Given the description of an element on the screen output the (x, y) to click on. 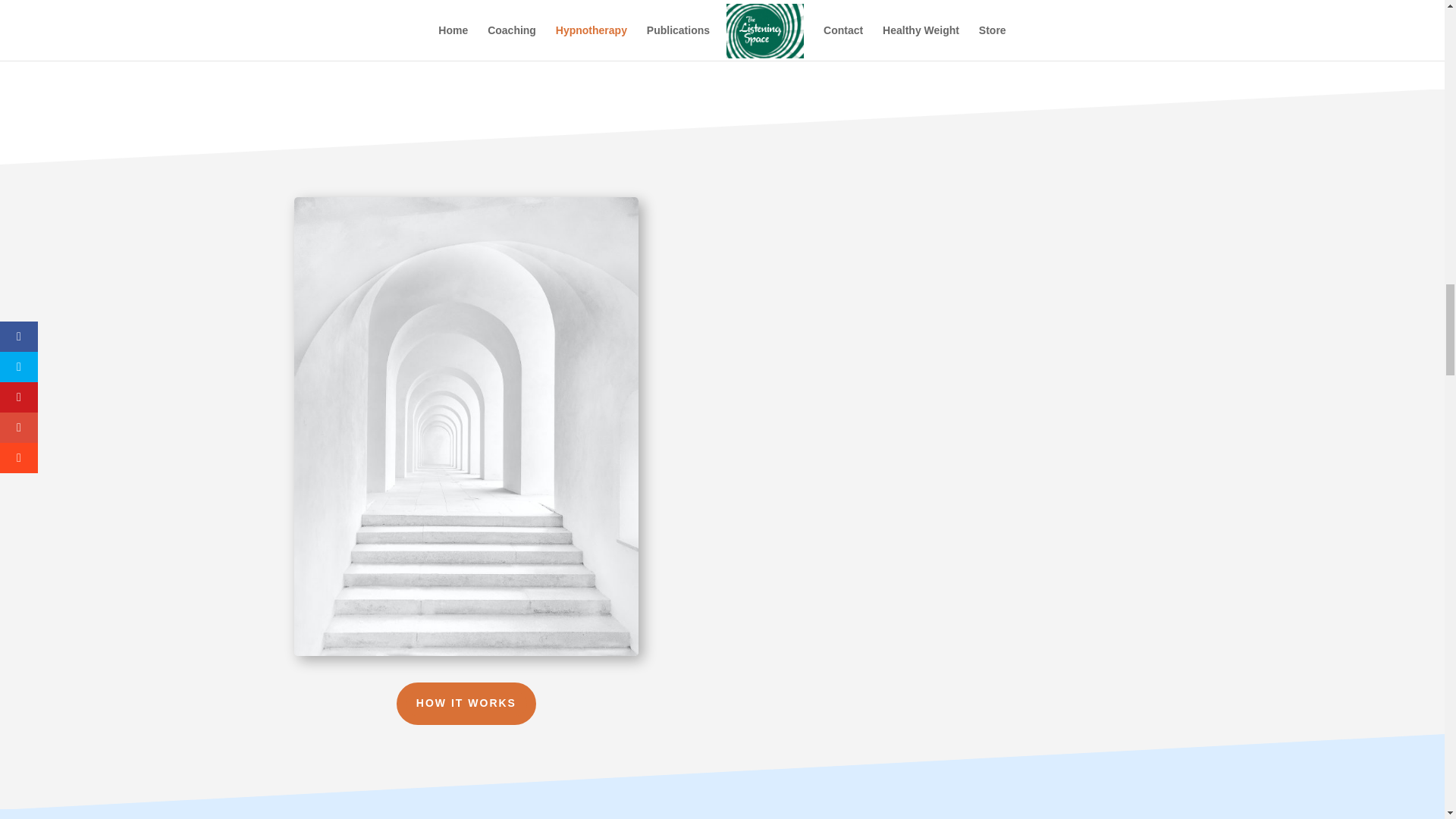
HOW IT WORKS (465, 703)
